Given the description of an element on the screen output the (x, y) to click on. 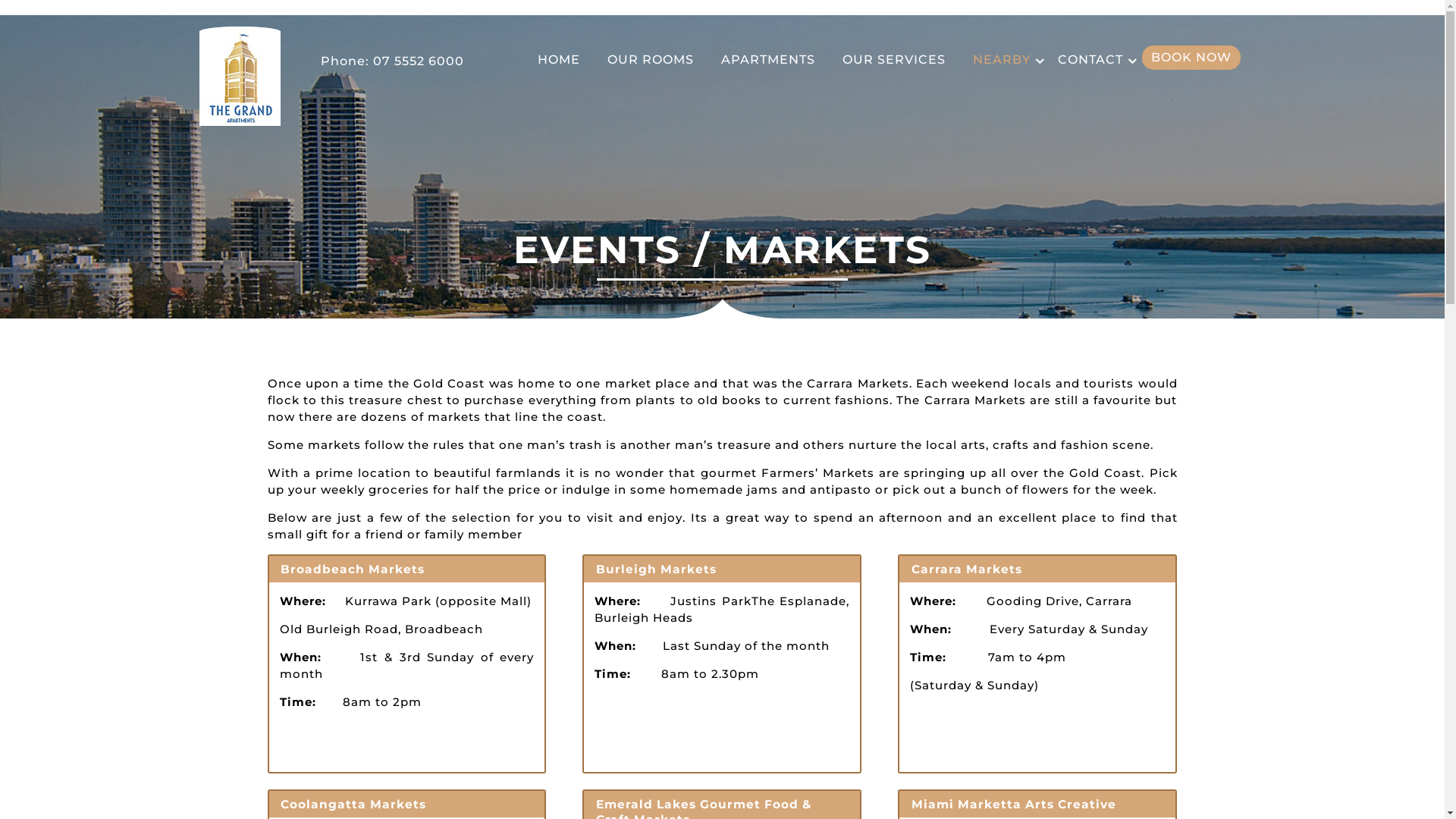
OUR ROOMS Element type: text (649, 59)
NEARBY Element type: text (1000, 59)
OUR SERVICES Element type: text (893, 59)
APARTMENTS Element type: text (767, 59)
BOOK NOW Element type: text (1191, 57)
HOME Element type: text (558, 59)
CONTACT Element type: text (1089, 59)
07 5552 6000 Element type: text (415, 60)
